Given the description of an element on the screen output the (x, y) to click on. 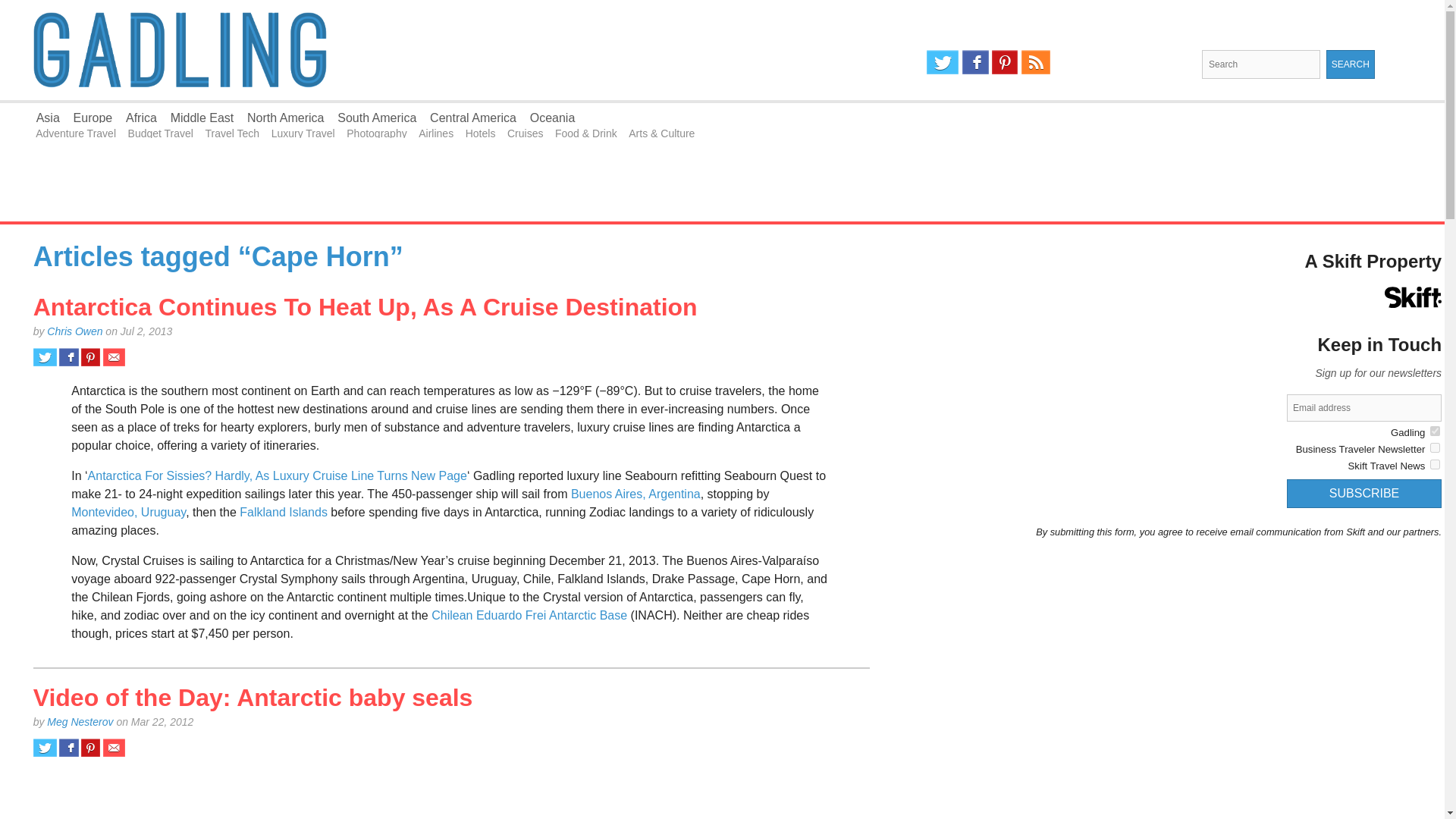
Share on Facebook (68, 747)
Travel Tech (232, 133)
Facebook (975, 61)
South America (376, 117)
2 (1434, 447)
1 (1434, 464)
Falkland Islands (283, 512)
Search (1350, 63)
Share via email (114, 747)
